Given the description of an element on the screen output the (x, y) to click on. 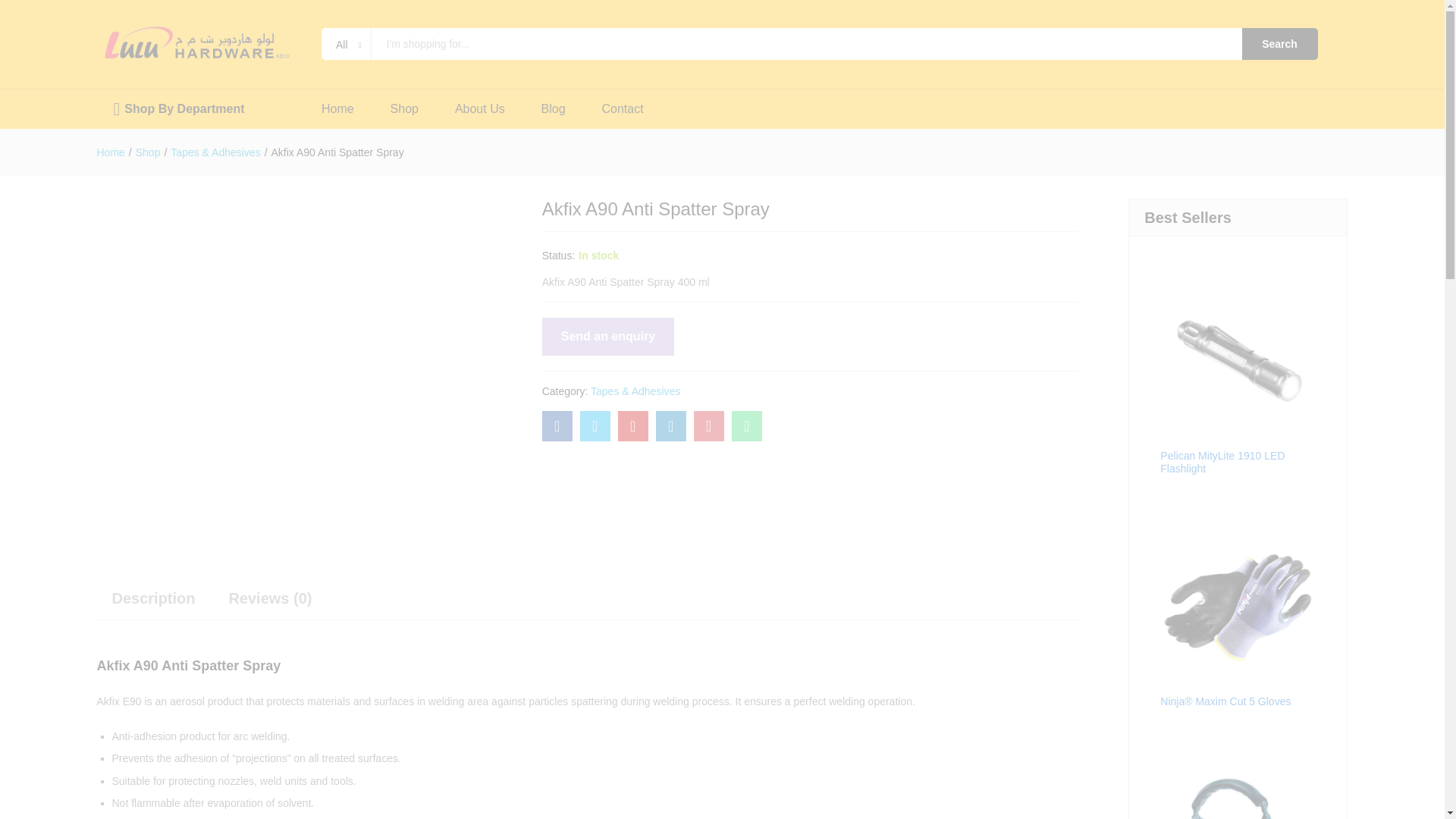
About Us (479, 109)
Blog (553, 109)
Home (337, 109)
Contact (622, 109)
Akfix A90 Anti Spatter Spray (632, 426)
Home (111, 152)
Search (1279, 43)
Send an enquiry (607, 336)
Akfix A90 Anti Spatter Spray (556, 426)
Shop (147, 152)
